Given the description of an element on the screen output the (x, y) to click on. 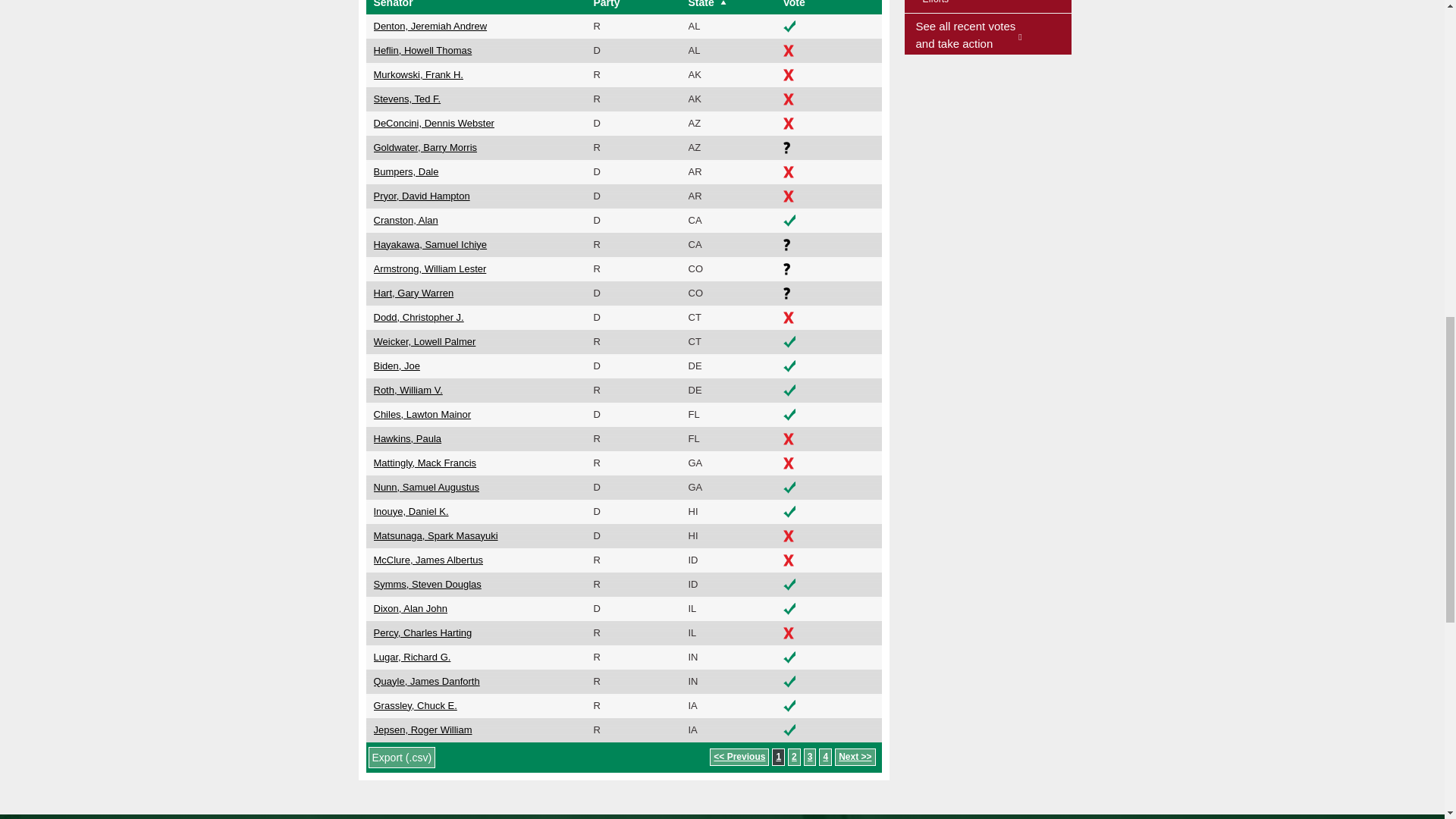
Bumpers, Dale (405, 171)
DeConcini, Dennis Webster (432, 122)
Stevens, Ted F. (406, 98)
Goldwater, Barry Morris (424, 147)
Denton, Jeremiah Andrew (429, 25)
Pryor, David Hampton (420, 195)
Murkowski, Frank H. (417, 74)
Heflin, Howell Thomas (421, 50)
